Given the description of an element on the screen output the (x, y) to click on. 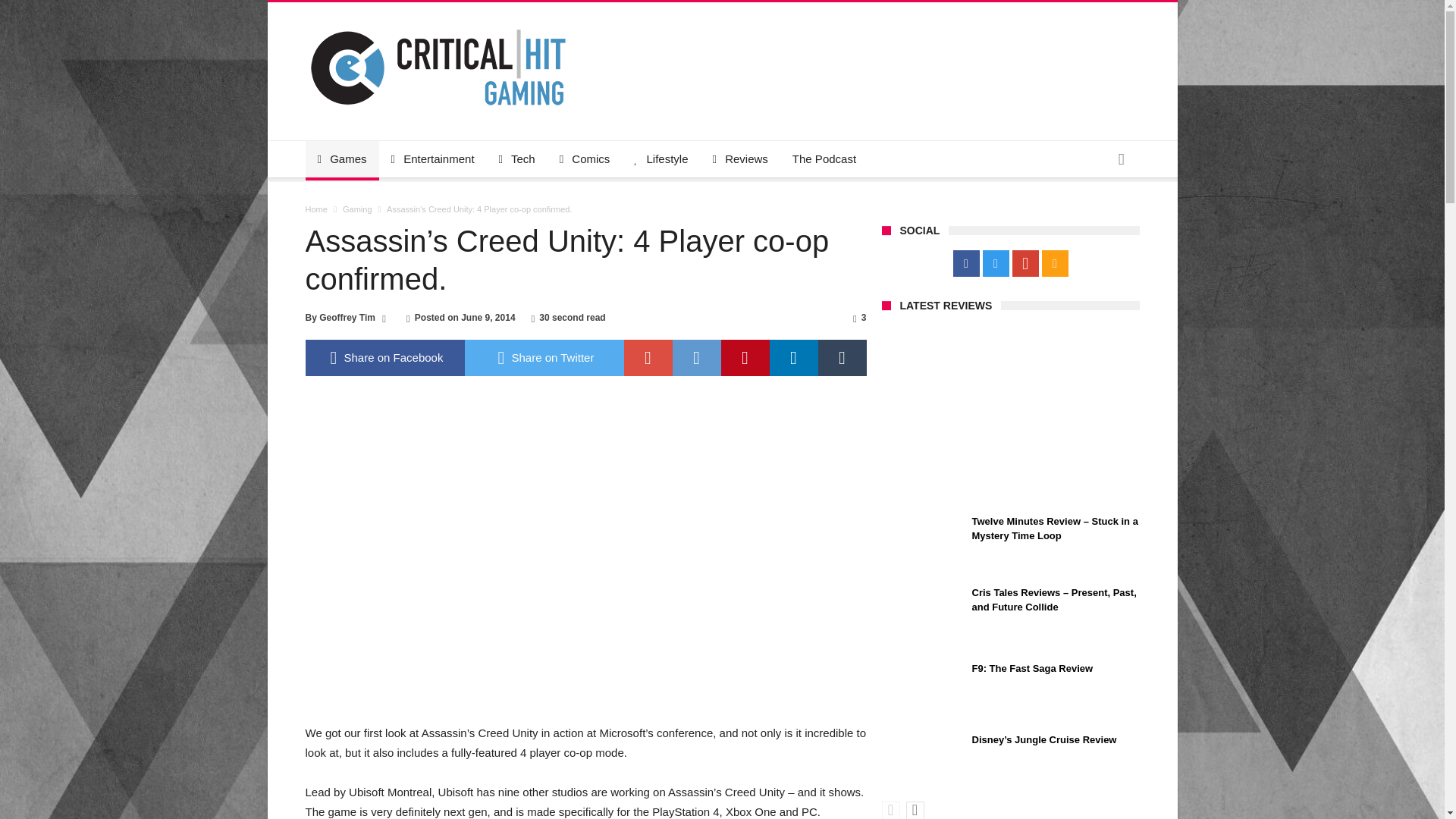
Comics (585, 158)
Entertainment (432, 158)
Home (315, 208)
Geoffrey Tim (346, 317)
Share on Tumblr (841, 357)
linkedin (792, 357)
Share on Linkedin (792, 357)
Tech (516, 158)
Games (341, 158)
reddit (695, 357)
